Given the description of an element on the screen output the (x, y) to click on. 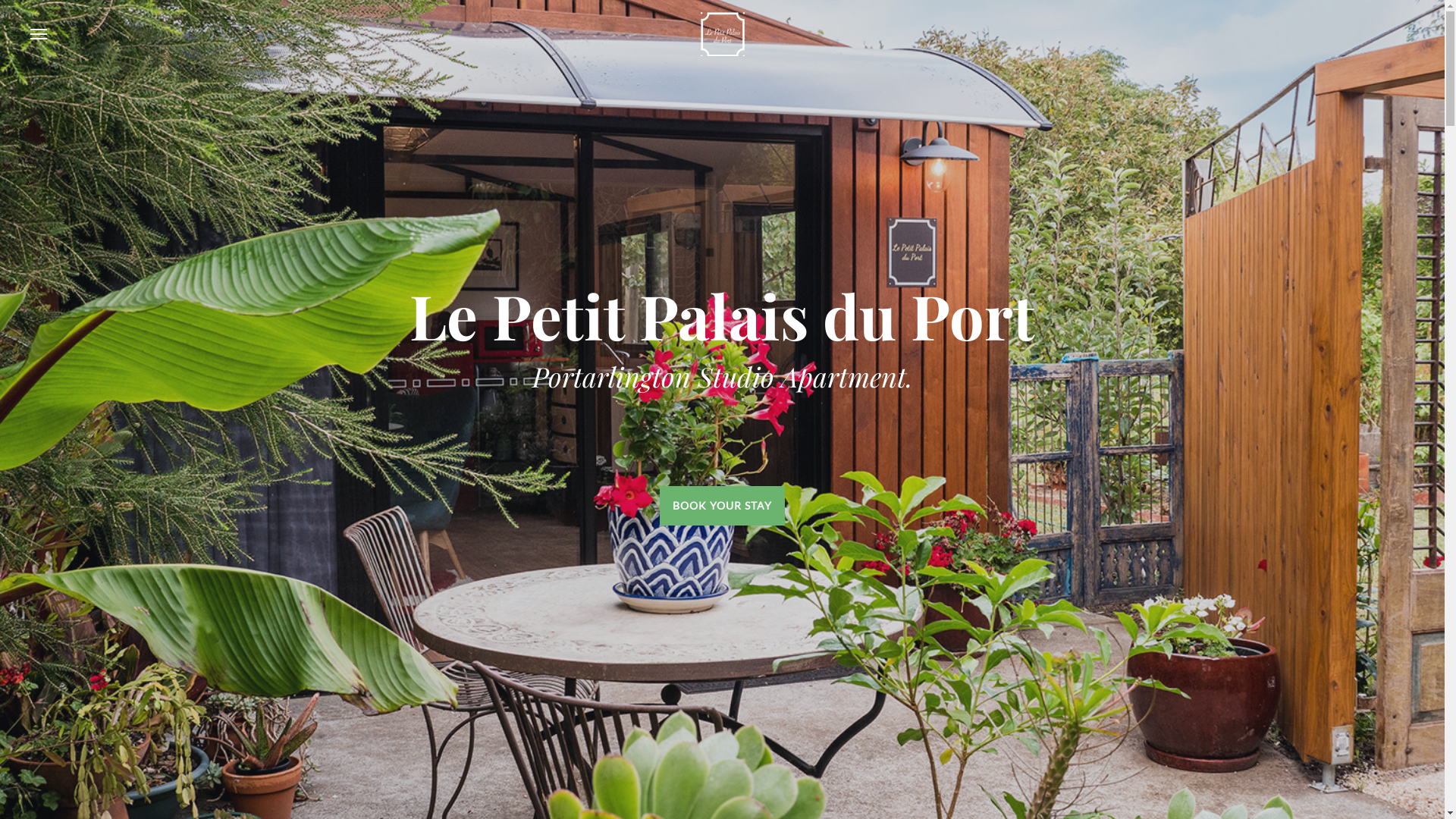
Skip to content Element type: text (0, 0)
BOOK YOUR STAY Element type: text (721, 505)
LE PETIT PALAIS DU PORT Element type: text (721, 33)
